Given the description of an element on the screen output the (x, y) to click on. 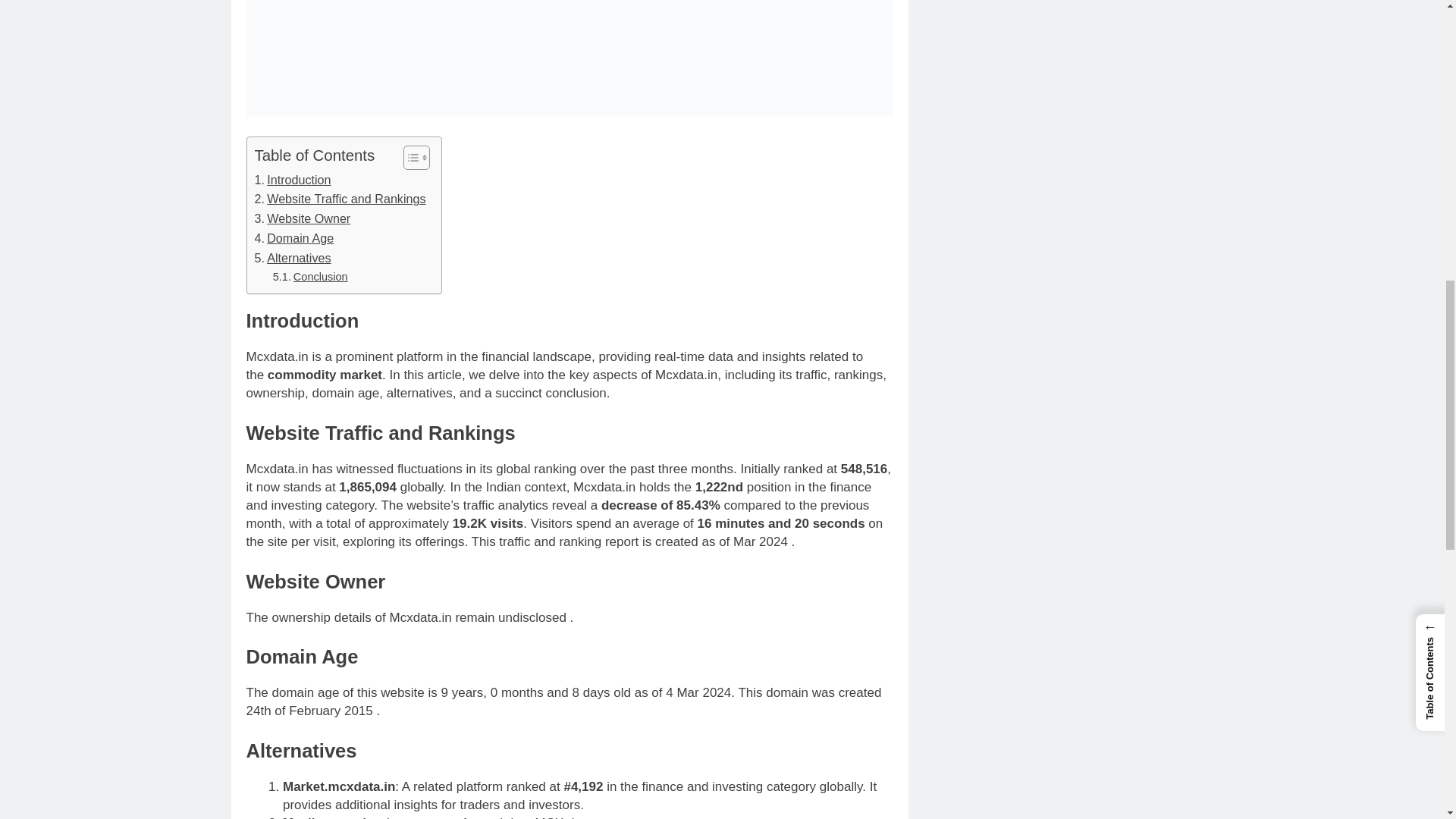
Domain Age (294, 238)
Website Owner (302, 219)
Introduction (292, 180)
Website Traffic and Rankings (340, 199)
Alternatives (292, 258)
Conclusion (310, 276)
